Given the description of an element on the screen output the (x, y) to click on. 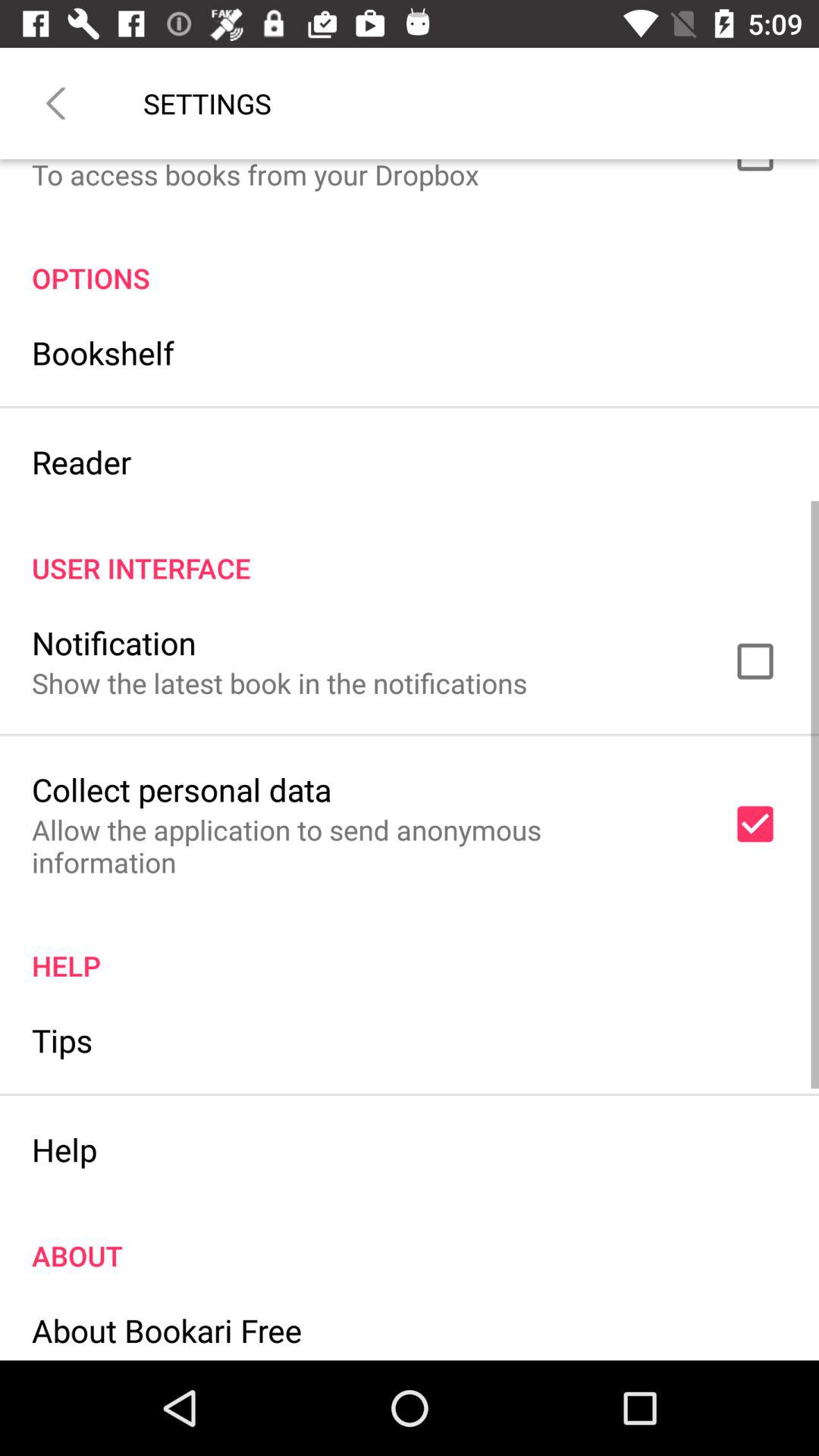
jump to the show the latest icon (279, 682)
